Given the description of an element on the screen output the (x, y) to click on. 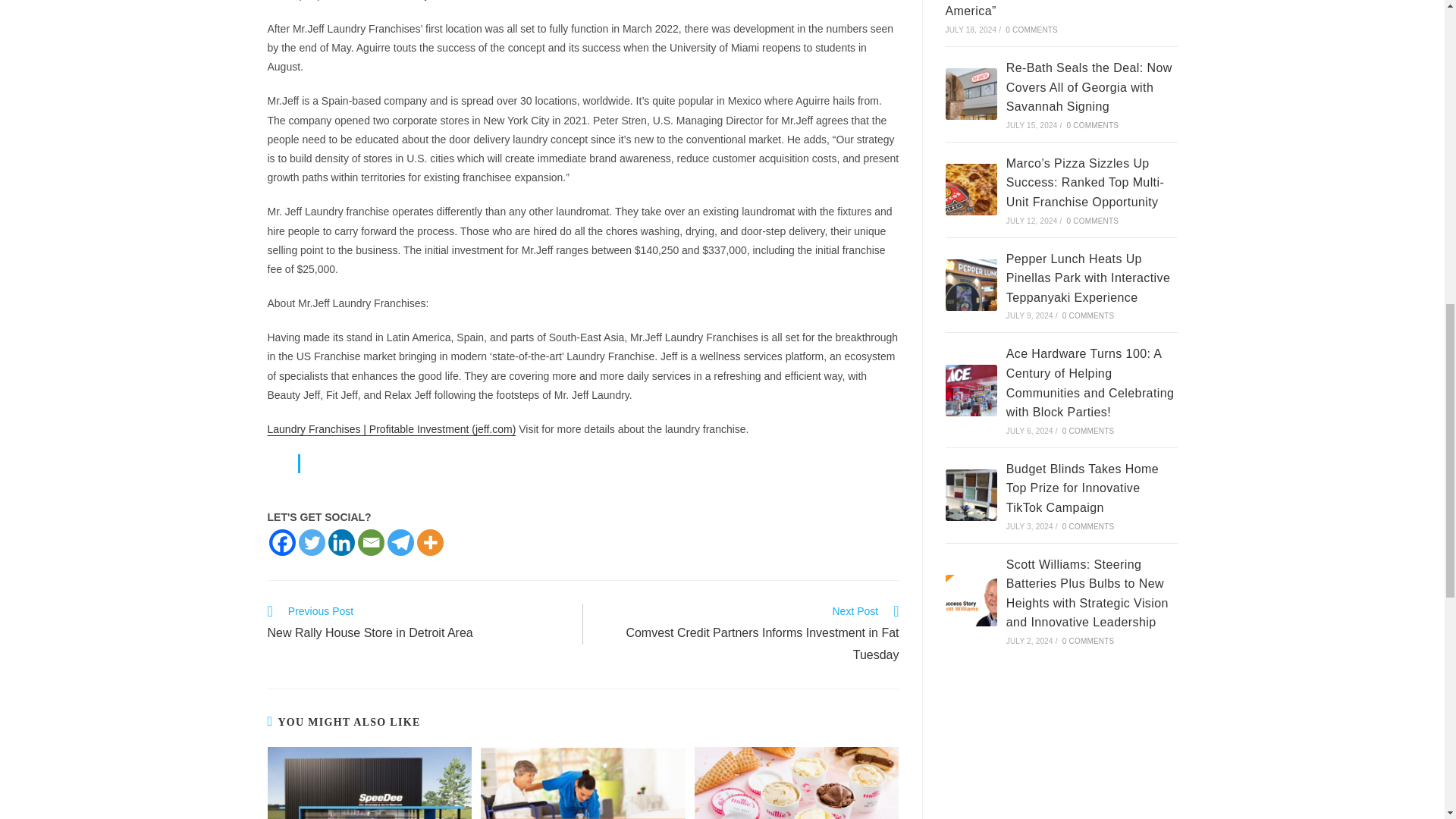
Facebook (281, 542)
More (430, 542)
Twitter (311, 542)
Linkedin (340, 542)
Email (371, 542)
Telegram (416, 623)
